Given the description of an element on the screen output the (x, y) to click on. 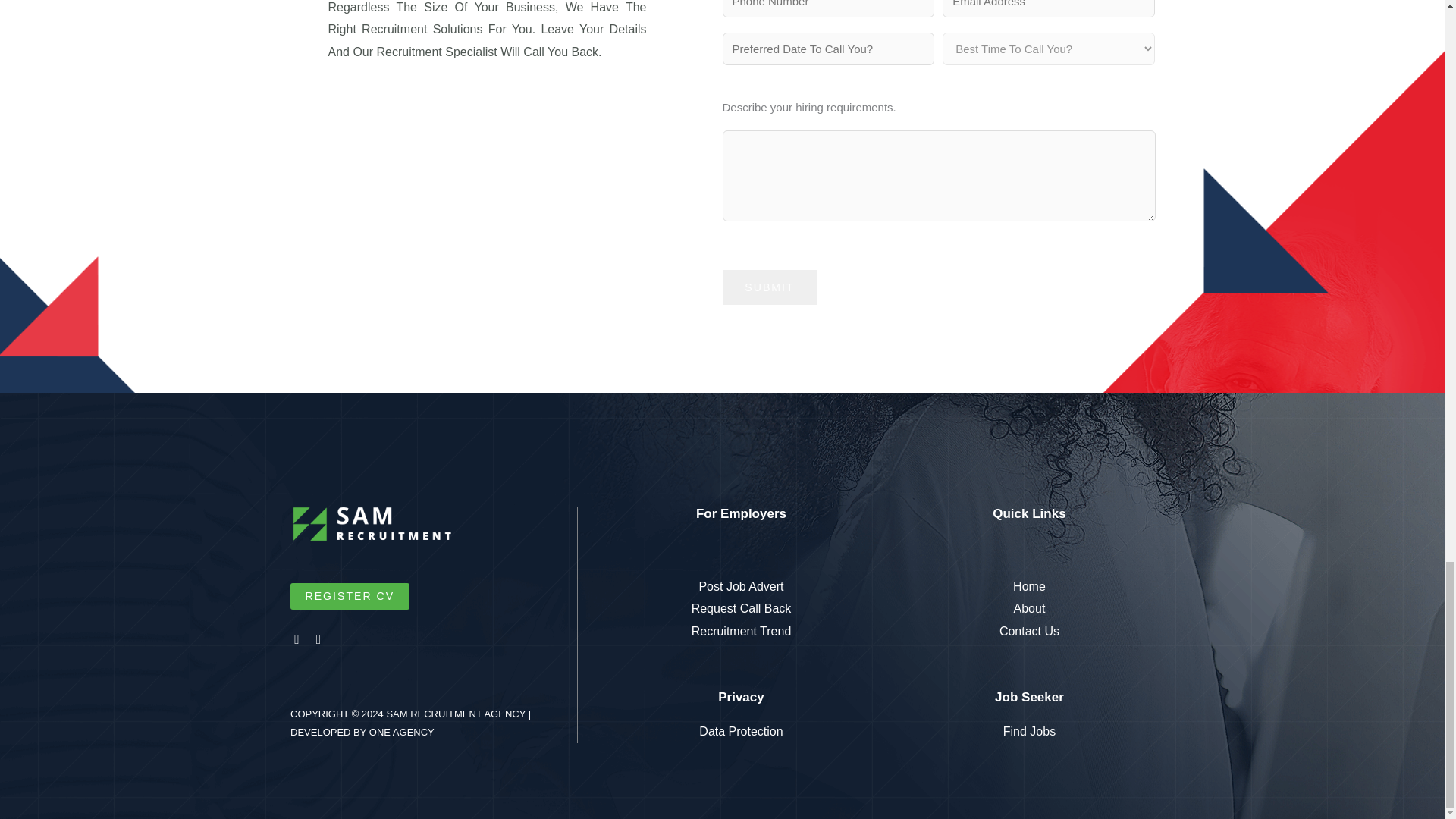
Linkedin (320, 640)
Post Job Advert (740, 586)
Facebook-f (297, 640)
Recruitment Trend (740, 630)
Home (1029, 586)
Contact Us (1029, 630)
REGISTER CV (349, 596)
Data Protection (740, 731)
Request Call Back (740, 608)
Find Jobs (1029, 731)
